Given the description of an element on the screen output the (x, y) to click on. 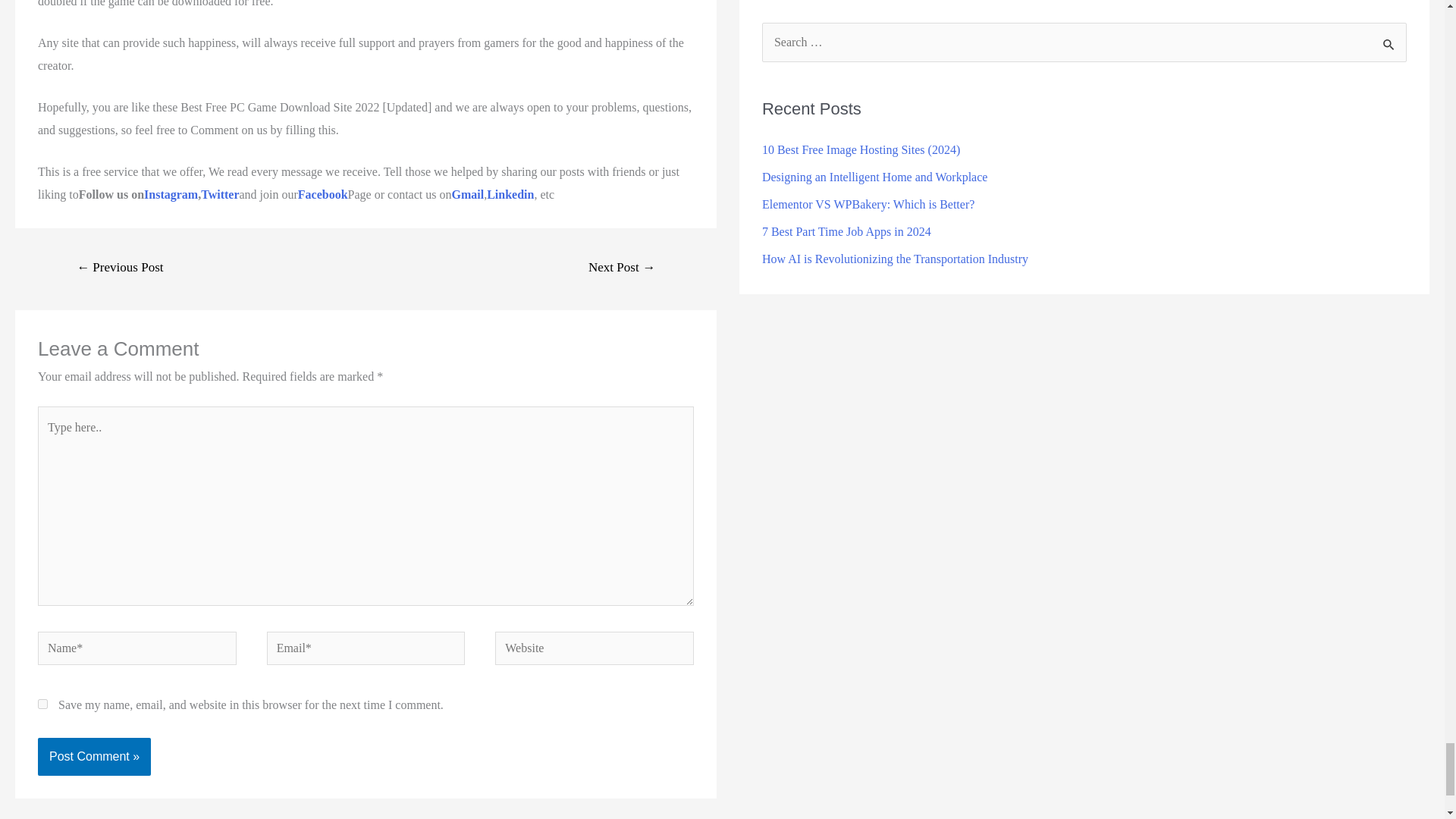
yes (42, 704)
